Given the description of an element on the screen output the (x, y) to click on. 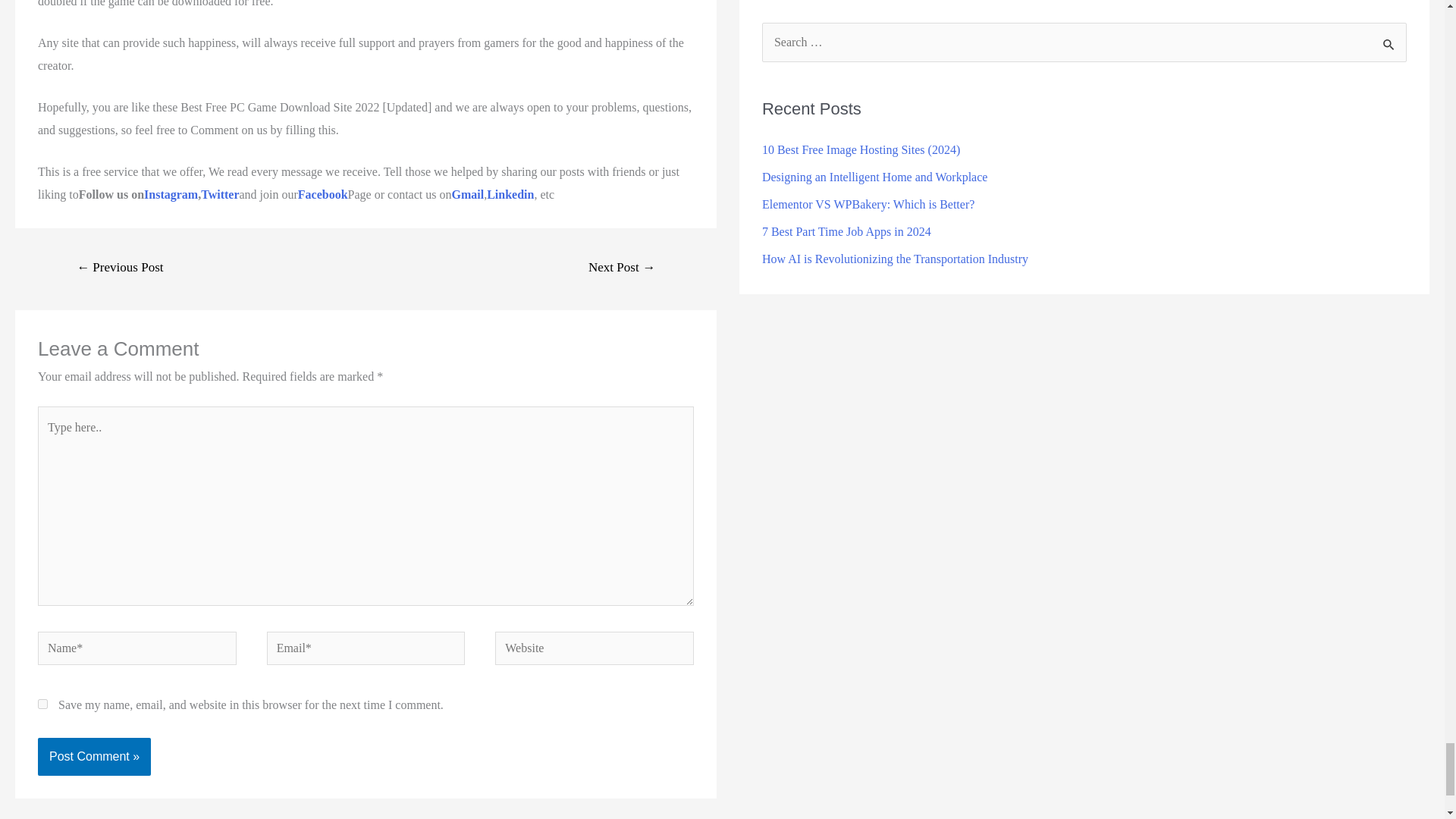
yes (42, 704)
